Given the description of an element on the screen output the (x, y) to click on. 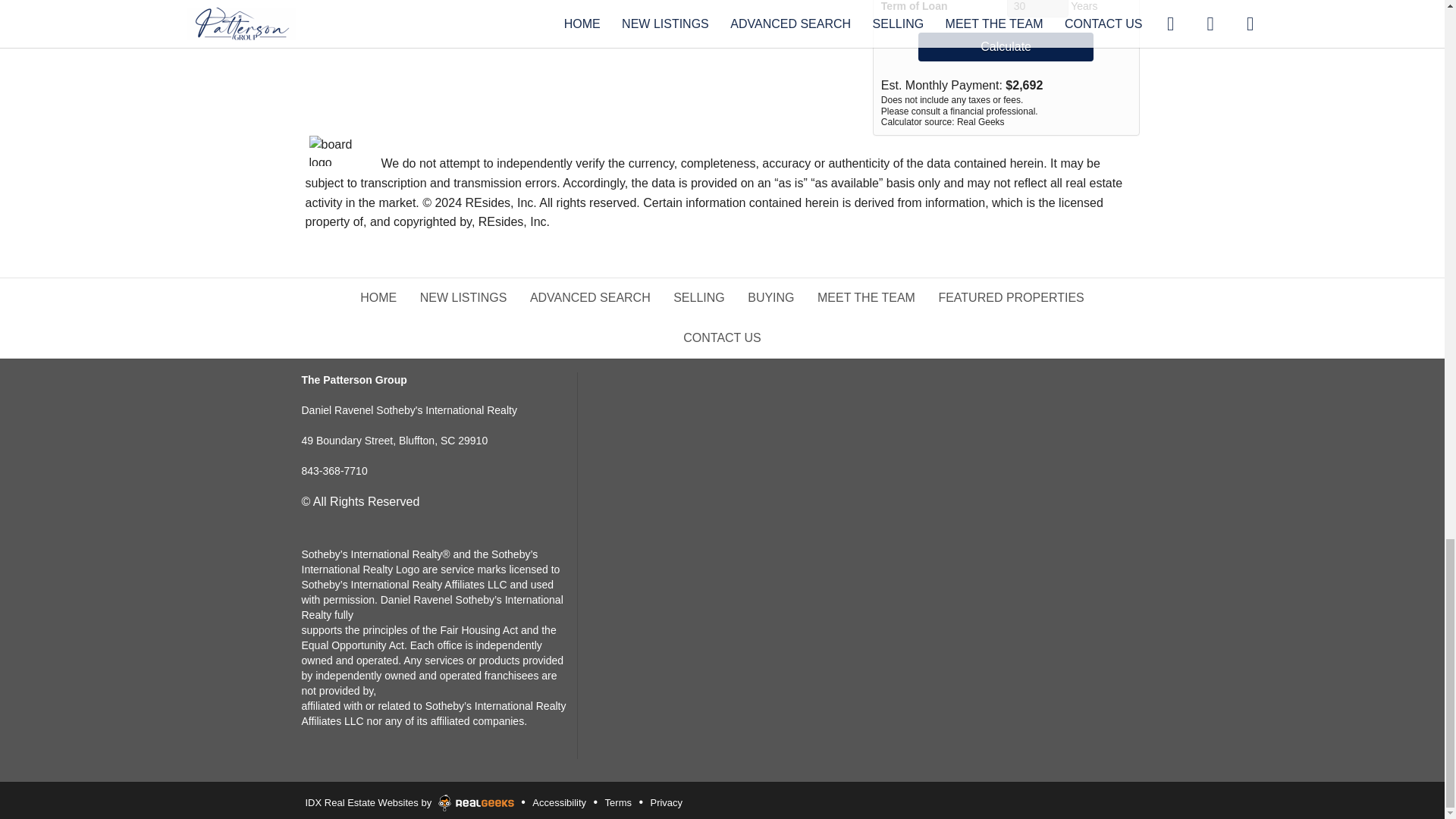
30 (1037, 8)
